Given the description of an element on the screen output the (x, y) to click on. 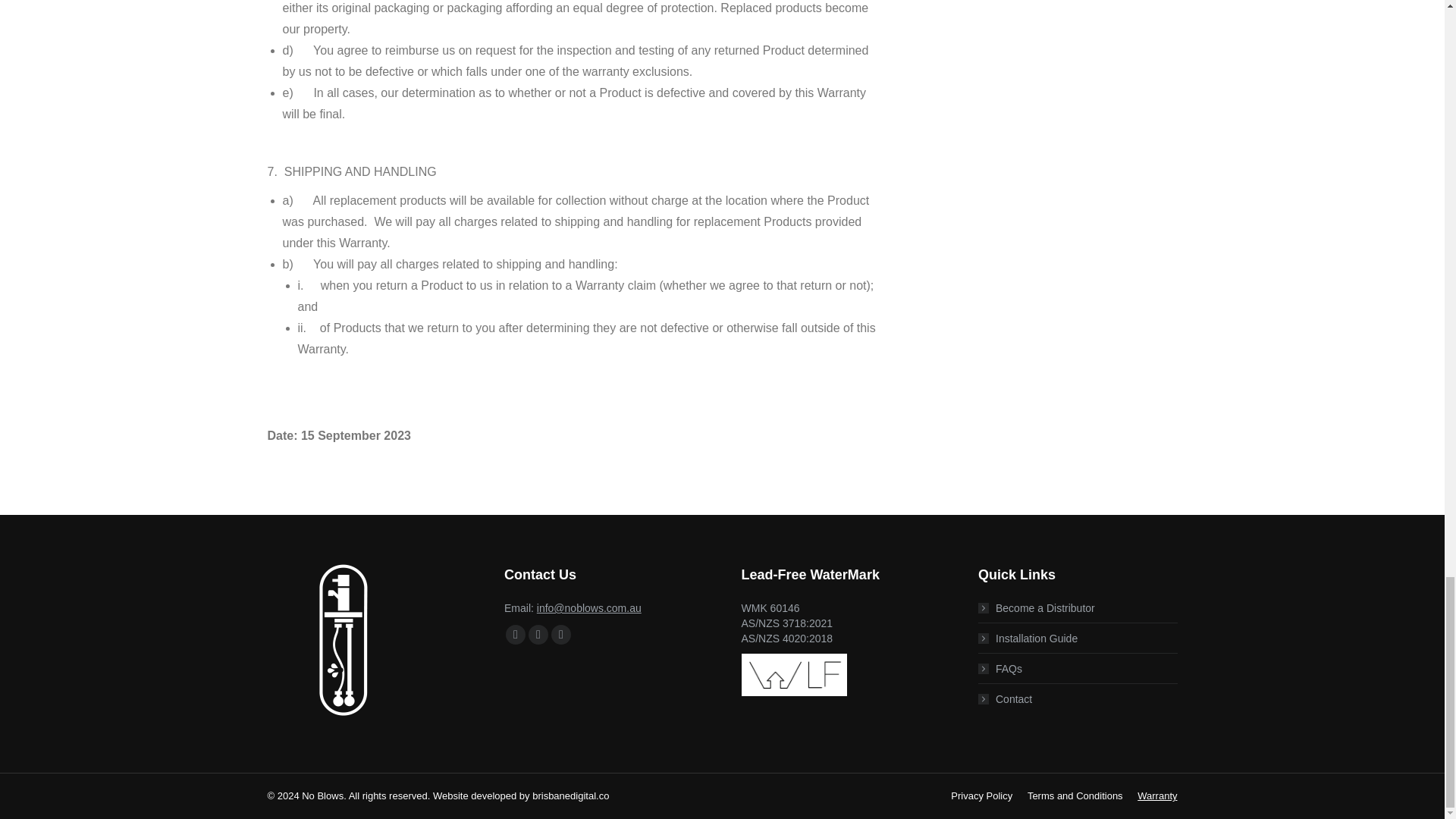
Become a Distributor (1036, 607)
Instagram page opens in new window (560, 634)
YouTube page opens in new window (538, 634)
FAQs (1000, 668)
Instagram page opens in new window (560, 634)
Facebook page opens in new window (515, 634)
Facebook page opens in new window (515, 634)
Installation Guide (1027, 638)
YouTube page opens in new window (538, 634)
